Given the description of an element on the screen output the (x, y) to click on. 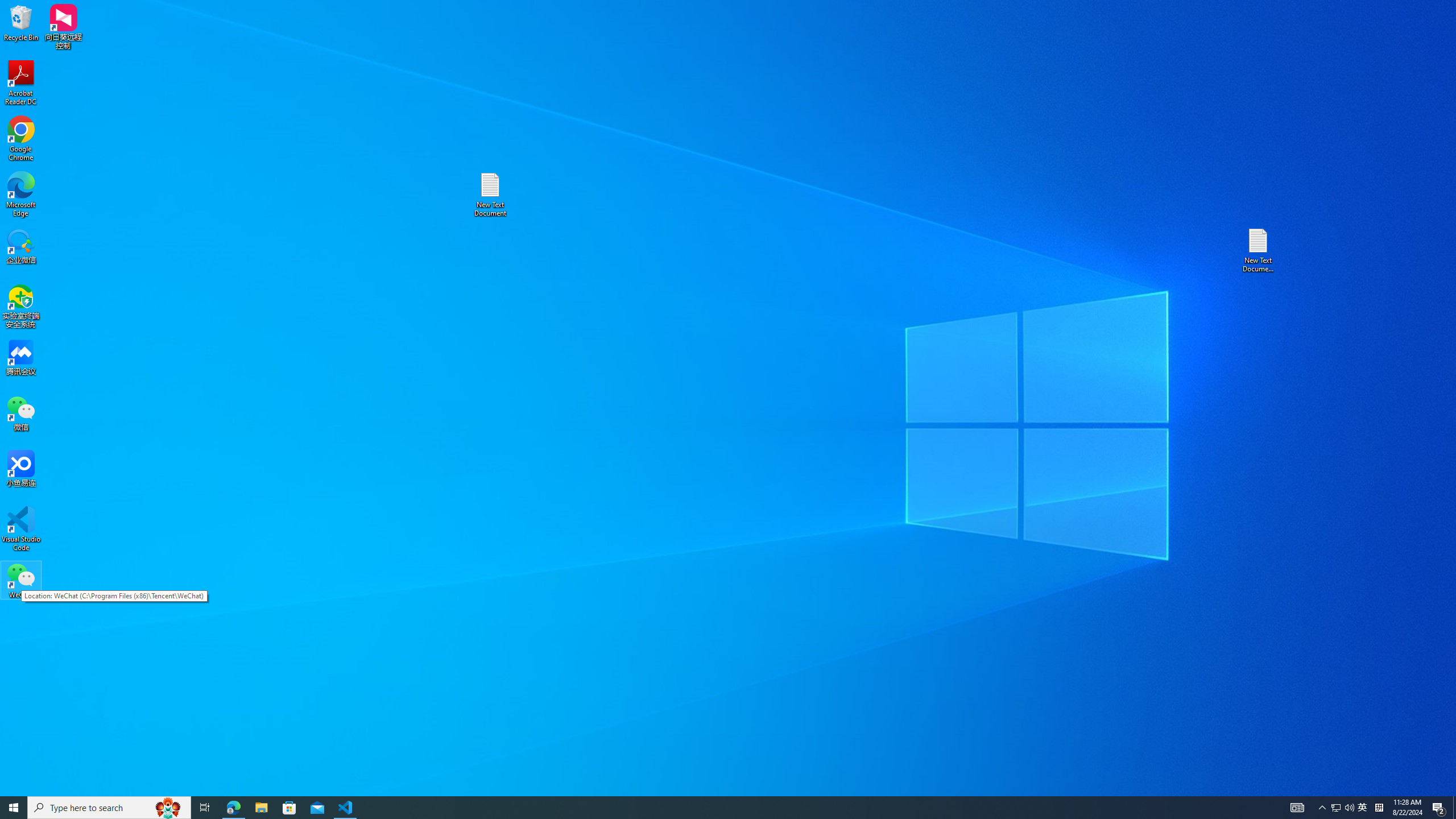
New Text Document (2) (1258, 250)
Visual Studio Code (21, 528)
Microsoft Edge (21, 194)
